Given the description of an element on the screen output the (x, y) to click on. 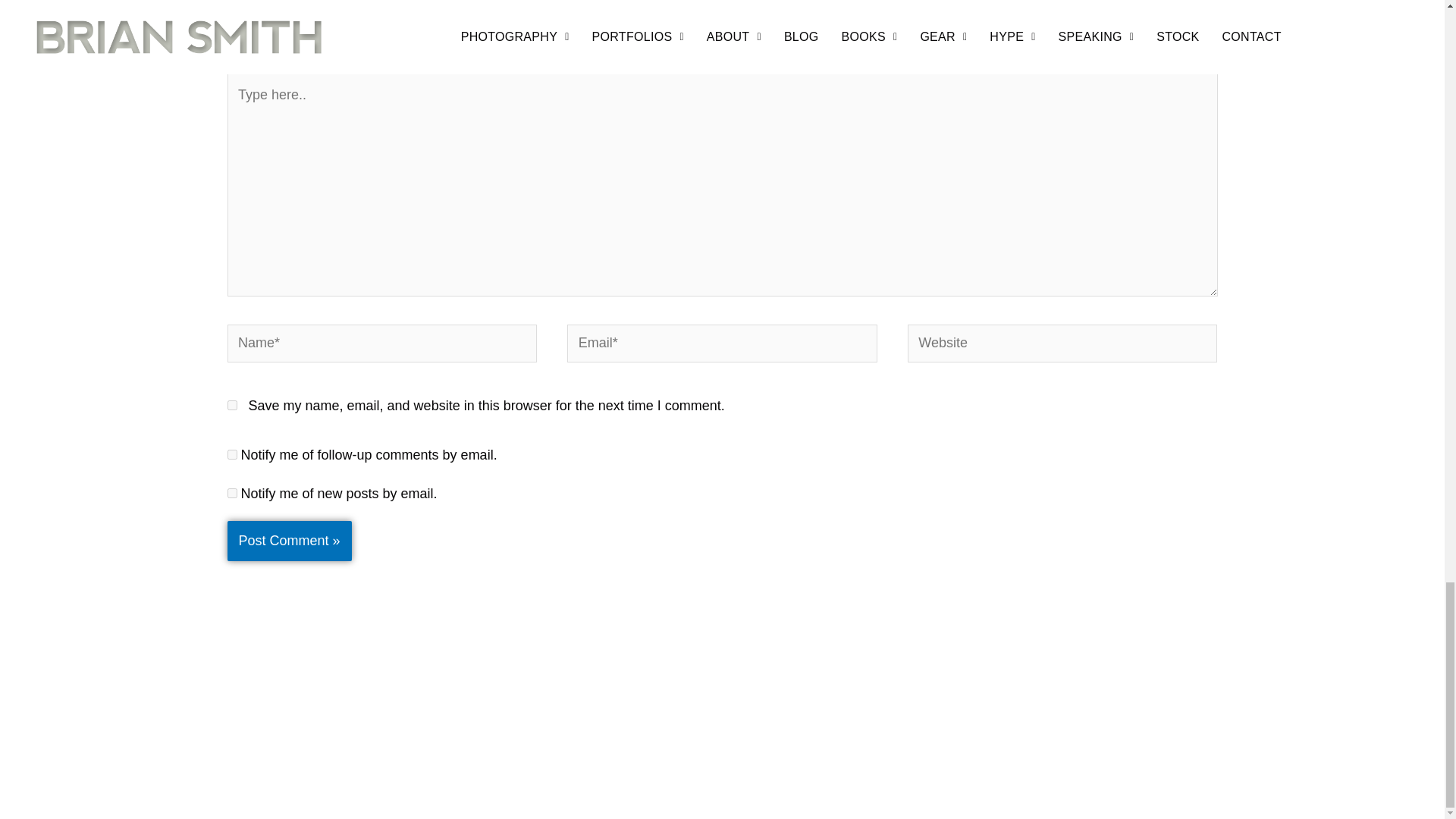
yes (232, 405)
subscribe (232, 492)
subscribe (232, 454)
